Given the description of an element on the screen output the (x, y) to click on. 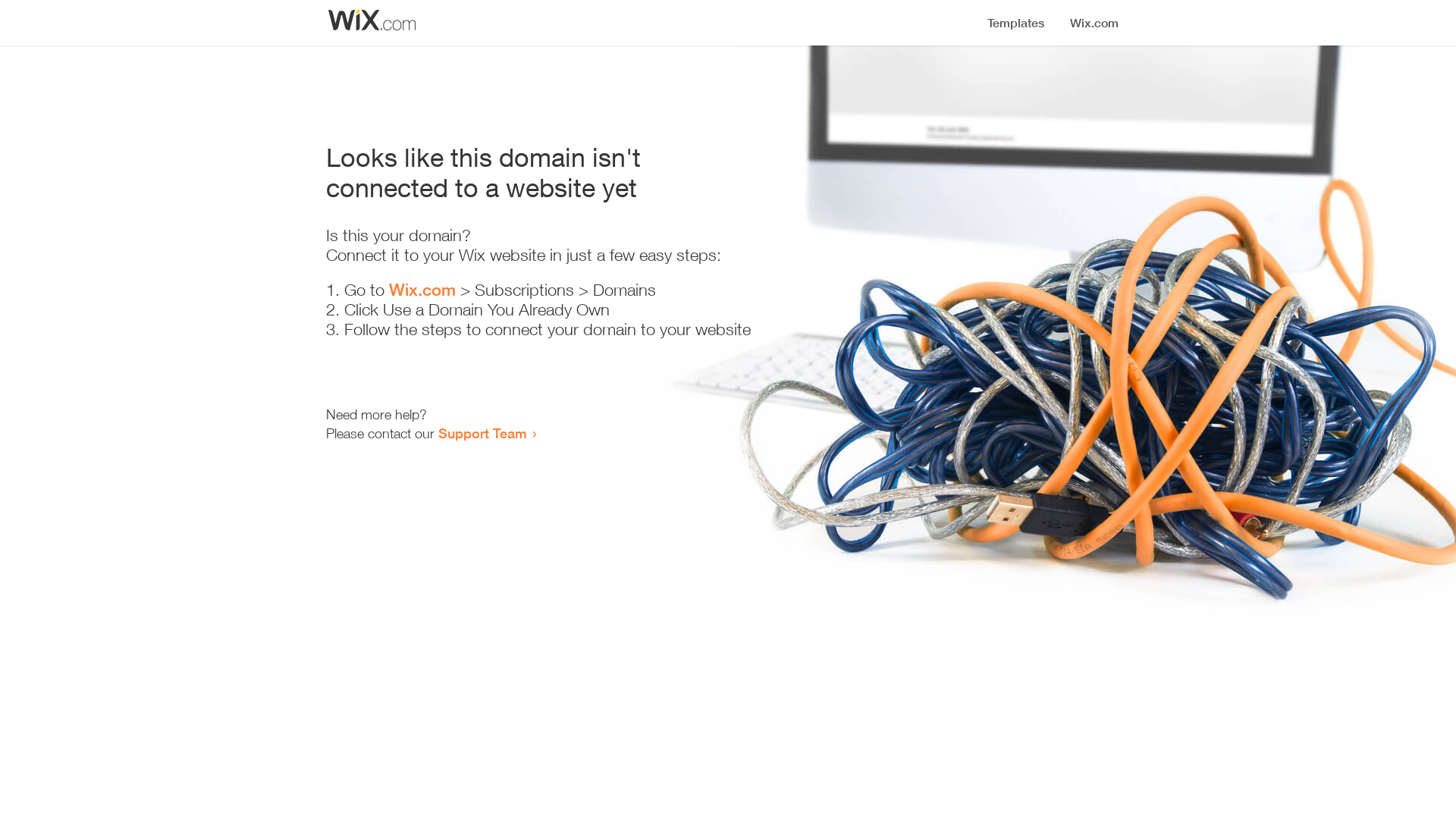
Support Team Element type: text (482, 432)
Wix.com Element type: text (422, 289)
